Given the description of an element on the screen output the (x, y) to click on. 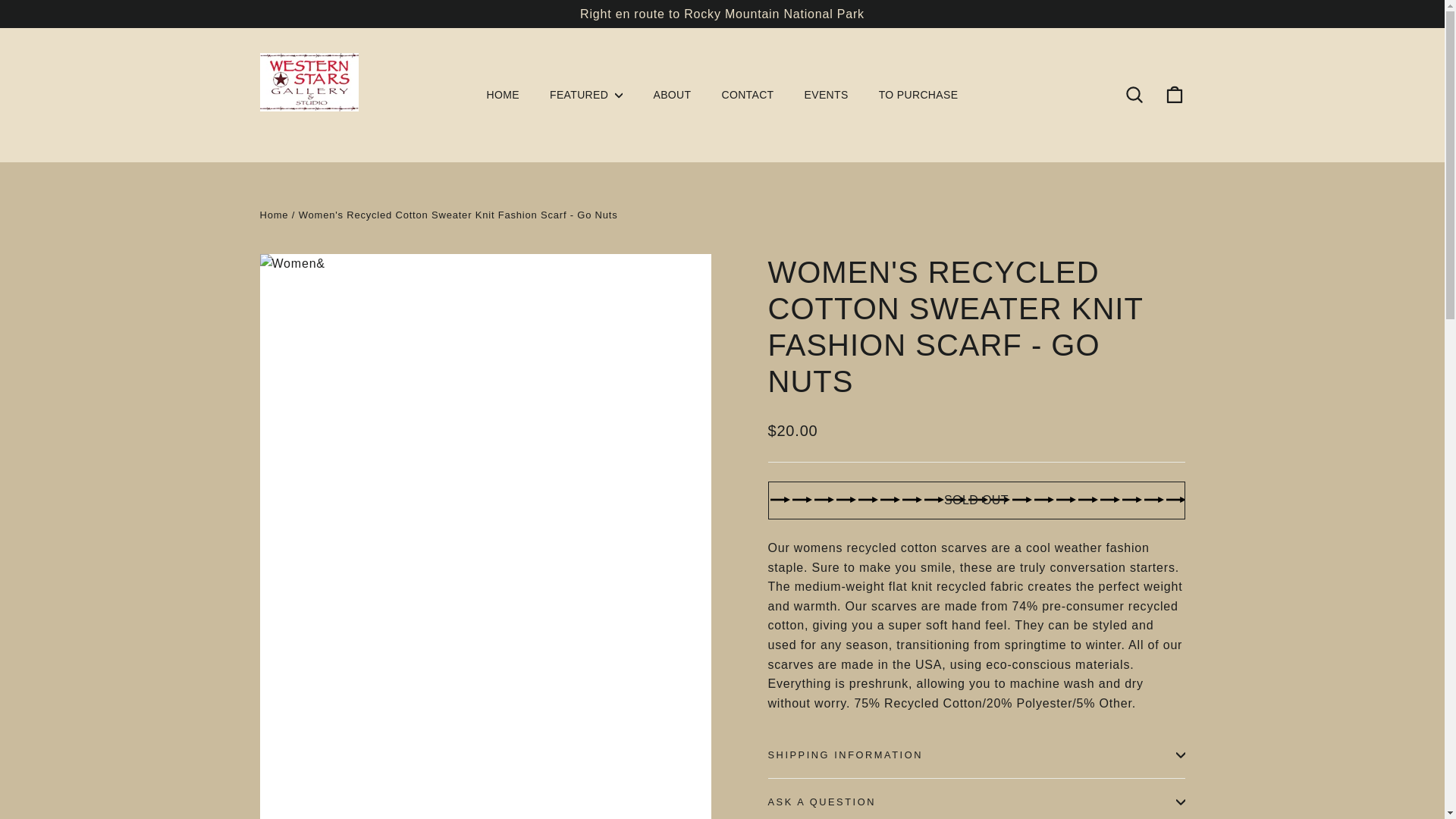
ABOUT (671, 94)
EVENTS (826, 94)
CONTACT (747, 94)
TO PURCHASE (918, 94)
SOLD OUT (976, 500)
HOME (502, 94)
Home (273, 214)
Back to the frontpage (273, 214)
SEARCH (1134, 94)
FEATURED (585, 94)
CART (1173, 94)
